Given the description of an element on the screen output the (x, y) to click on. 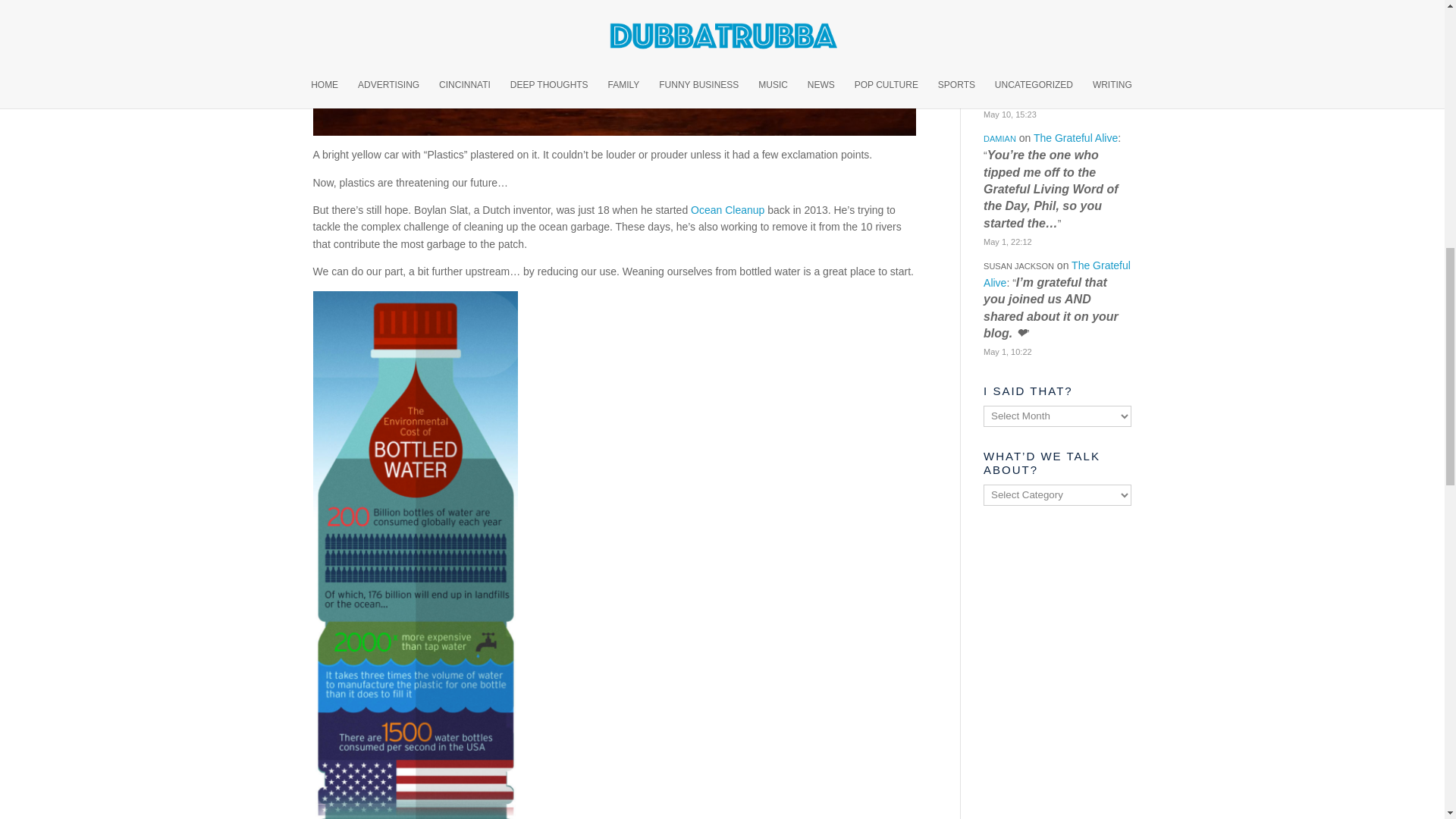
Ocean Cleanup (727, 209)
